Given the description of an element on the screen output the (x, y) to click on. 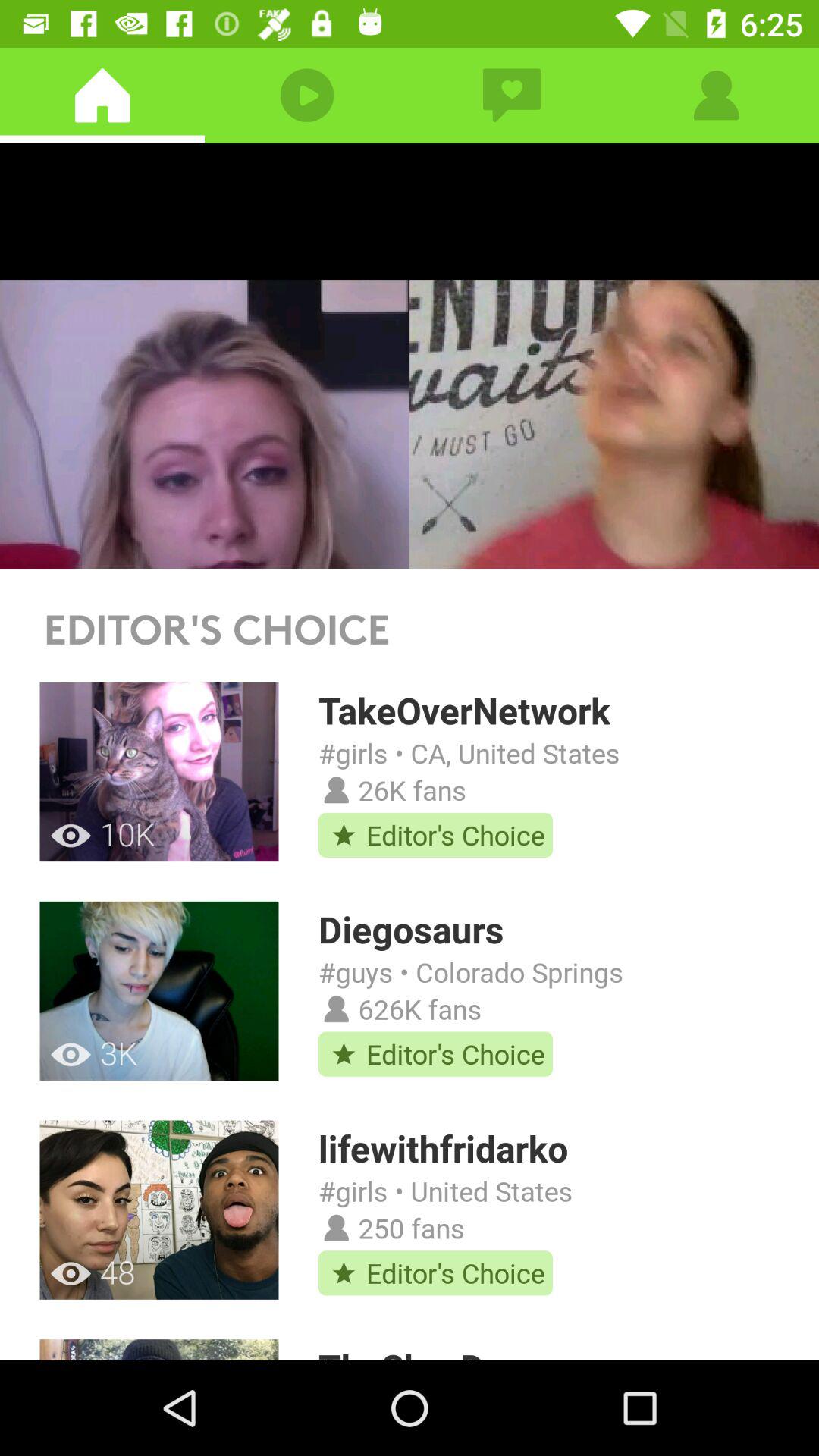
focus on video (409, 355)
